Given the description of an element on the screen output the (x, y) to click on. 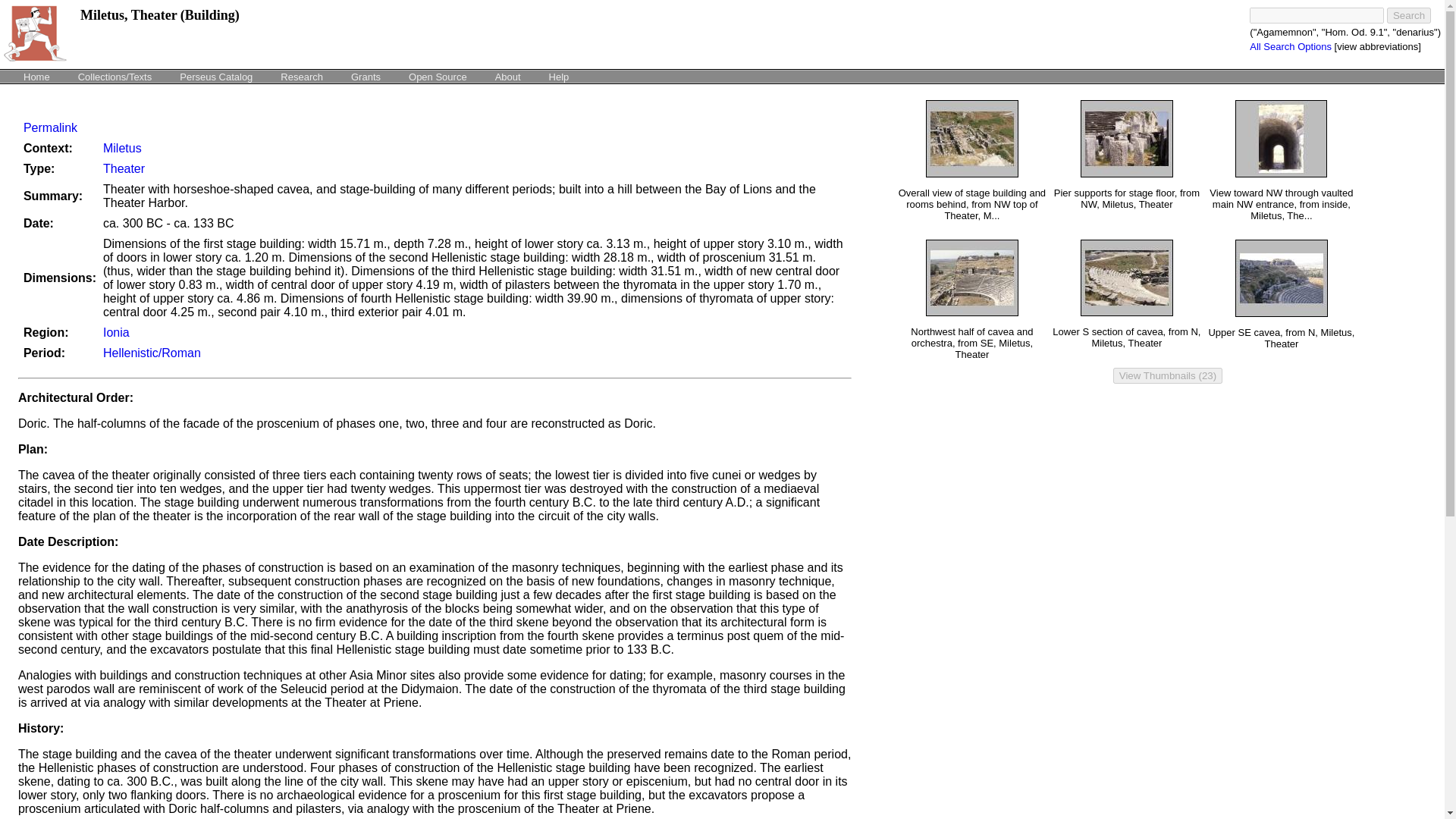
Ionia (116, 332)
Home (36, 76)
About (507, 76)
Search (1409, 15)
Perseus Catalog (215, 76)
Research (301, 76)
Grants (365, 76)
Search (1409, 15)
Miletus (122, 147)
Open Source (437, 76)
